Given the description of an element on the screen output the (x, y) to click on. 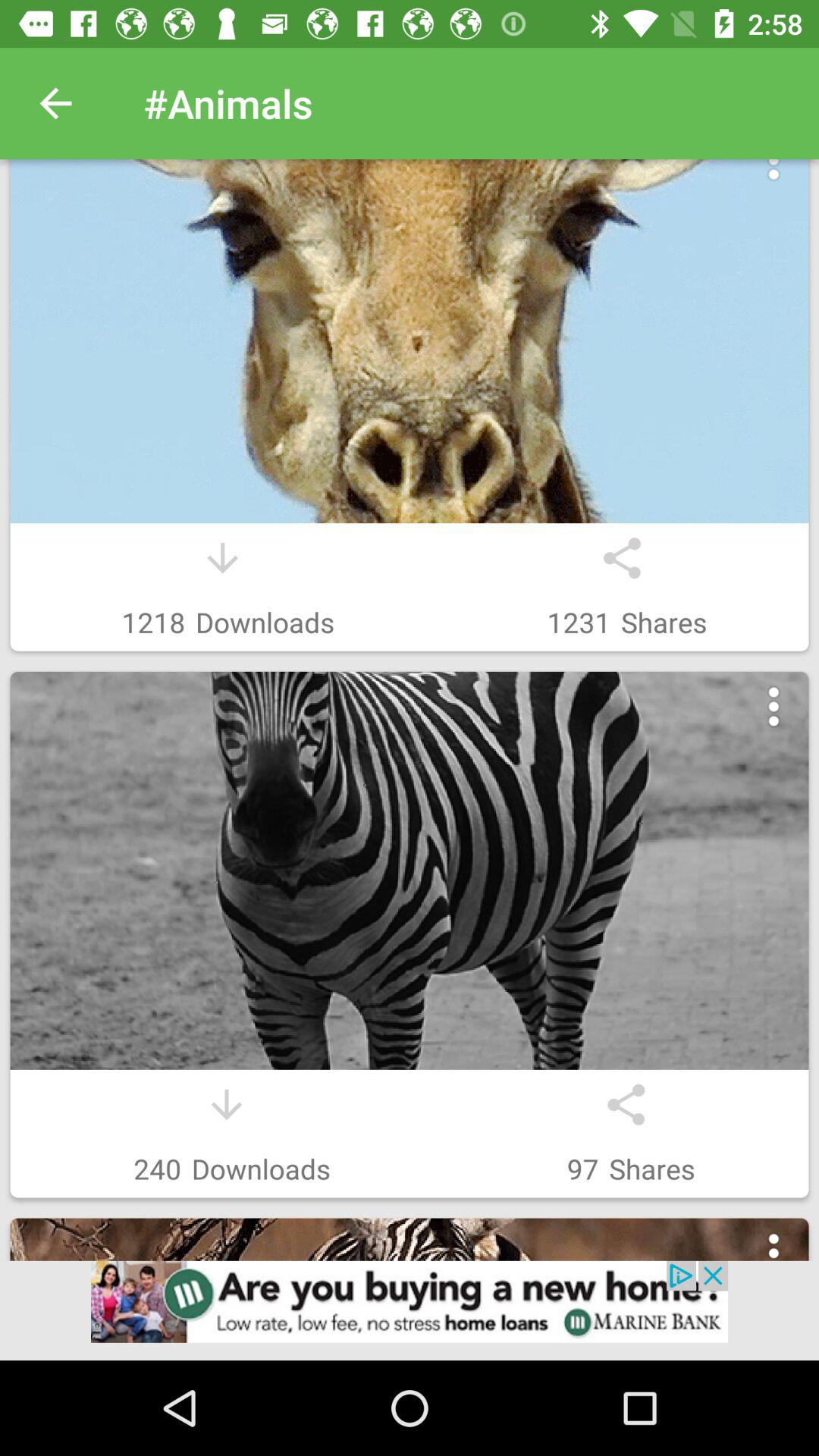
open picture settings (773, 177)
